Given the description of an element on the screen output the (x, y) to click on. 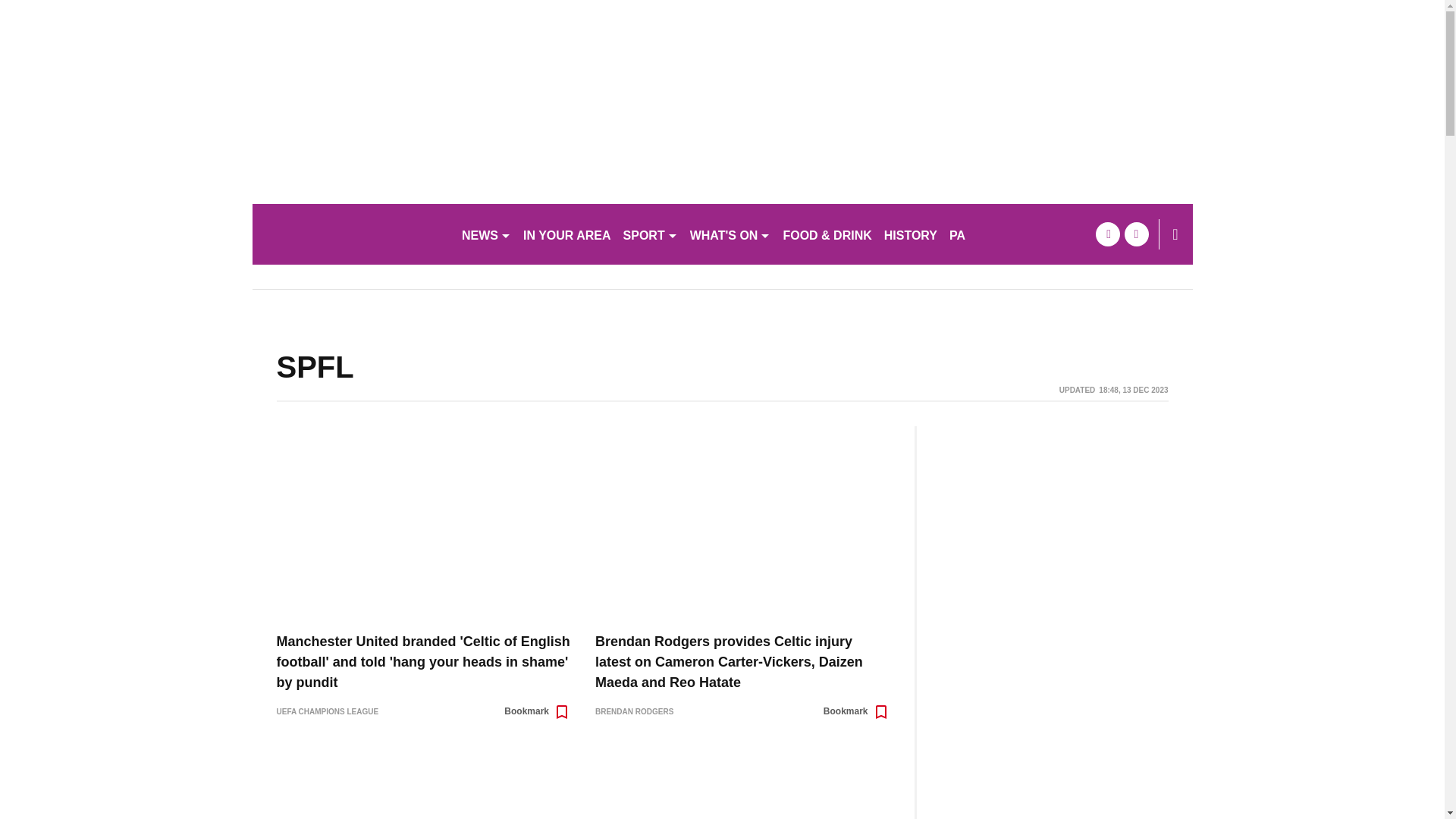
HISTORY (910, 233)
NEWS (485, 233)
PARTNER STORIES (1006, 233)
WHAT'S ON (730, 233)
SPORT (650, 233)
glasgowlive (349, 233)
IN YOUR AREA (566, 233)
twitter (1136, 233)
facebook (1106, 233)
